Given the description of an element on the screen output the (x, y) to click on. 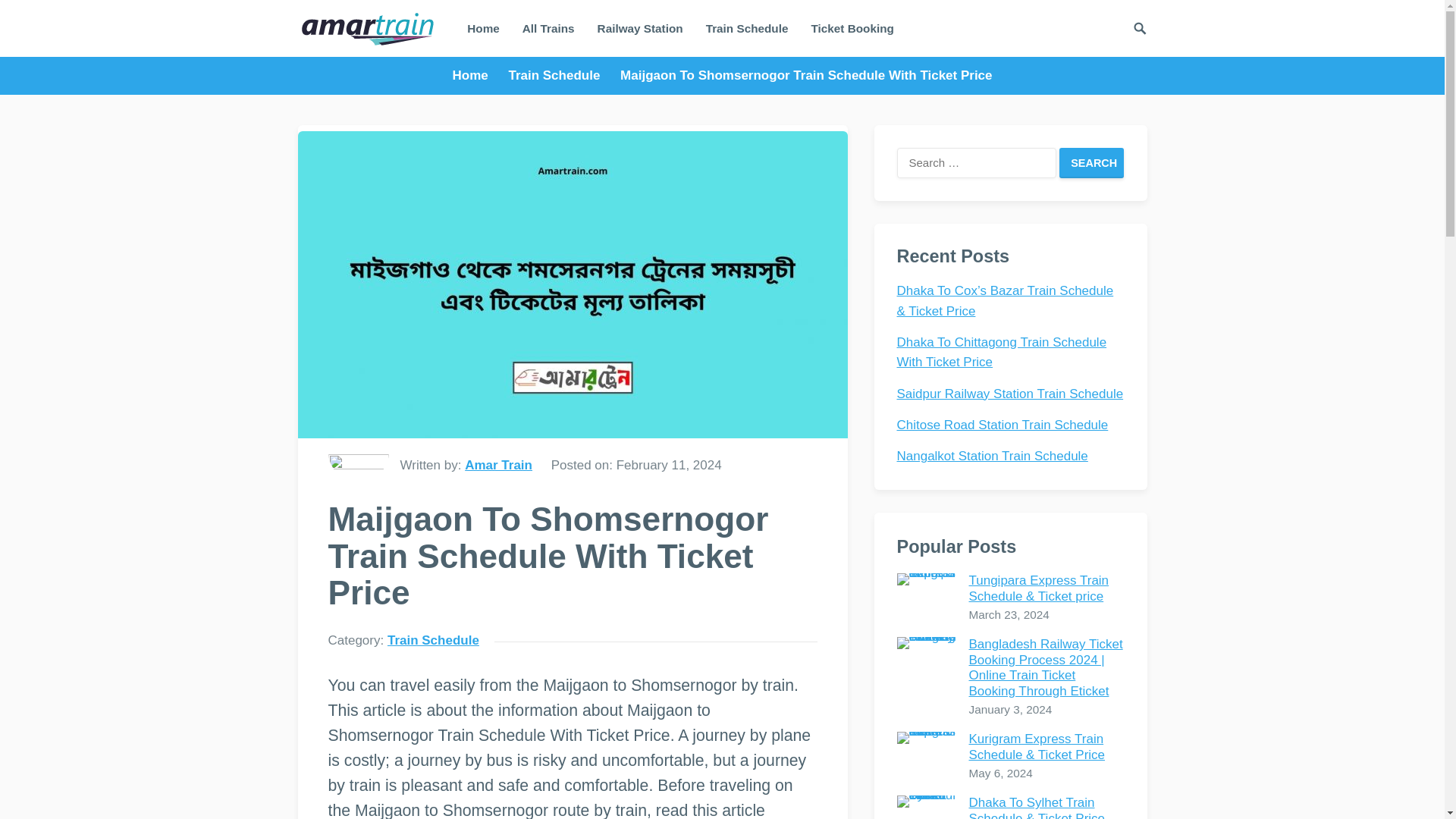
Search (1091, 163)
View all posts in Train Schedule (433, 640)
View all posts in Train Schedule (560, 74)
All Trains (548, 28)
Train Schedule (433, 640)
Train Schedule (746, 28)
Search (1091, 163)
Ticket Booking (851, 28)
Home (475, 74)
Search (1091, 163)
